Given the description of an element on the screen output the (x, y) to click on. 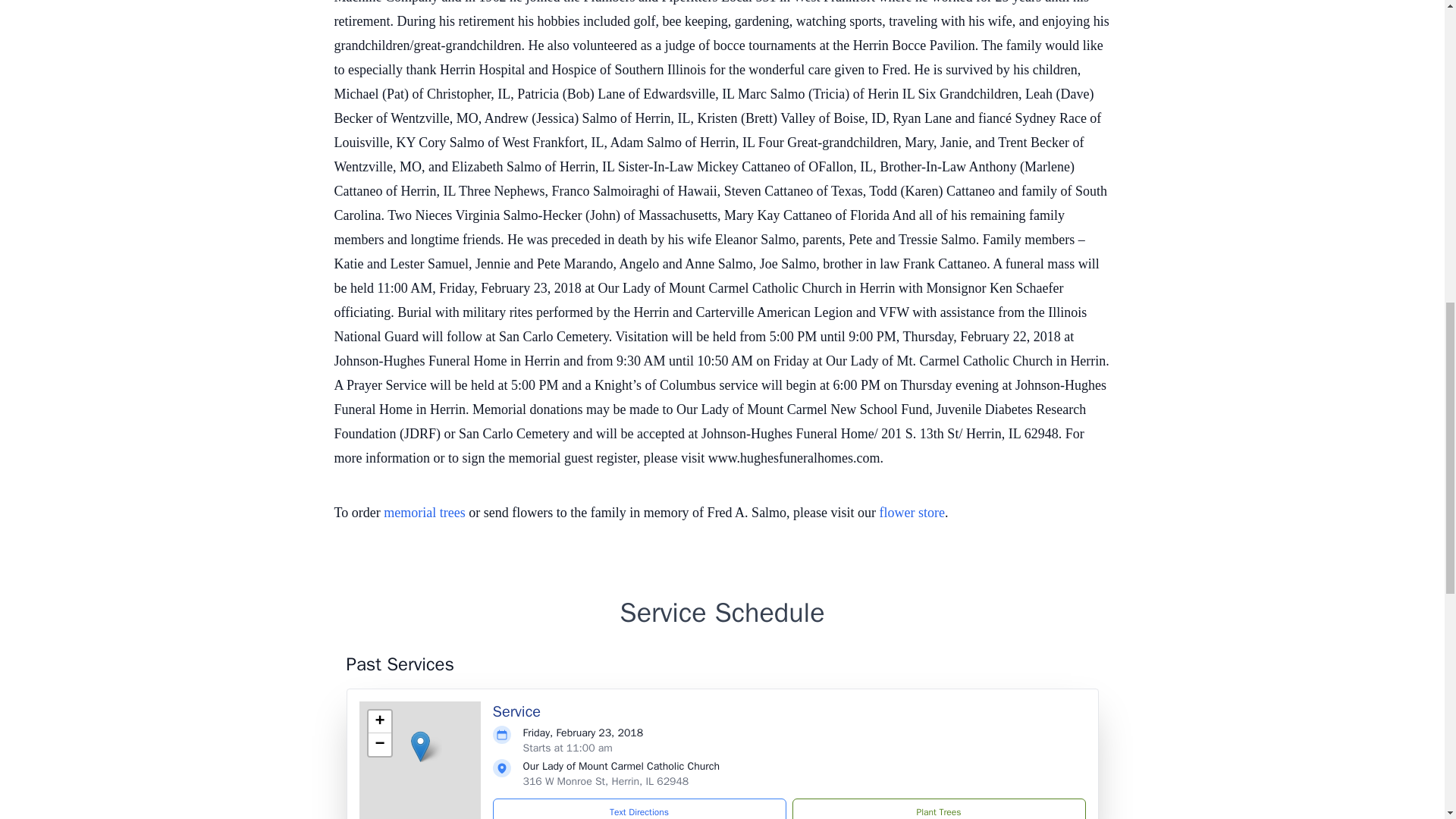
memorial trees (424, 512)
Plant Trees (938, 808)
Zoom out (379, 744)
flower store (911, 512)
Zoom in (379, 721)
316 W Monroe St, Herrin, IL 62948 (605, 780)
Text Directions (639, 808)
